Given the description of an element on the screen output the (x, y) to click on. 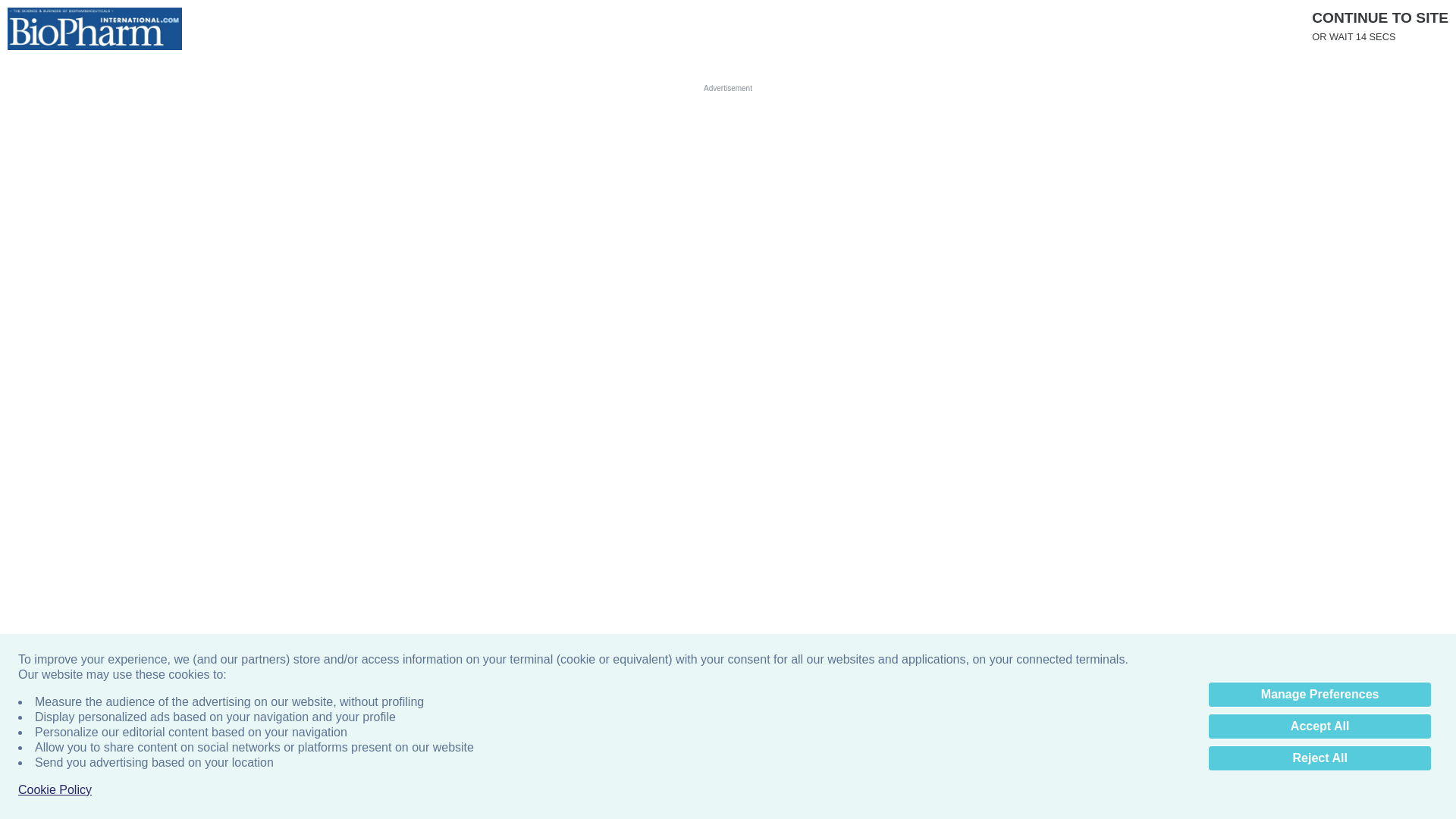
Manage Preferences (1319, 694)
Accept All (1319, 726)
Reject All (1319, 758)
Cookie Policy (54, 789)
